Given the description of an element on the screen output the (x, y) to click on. 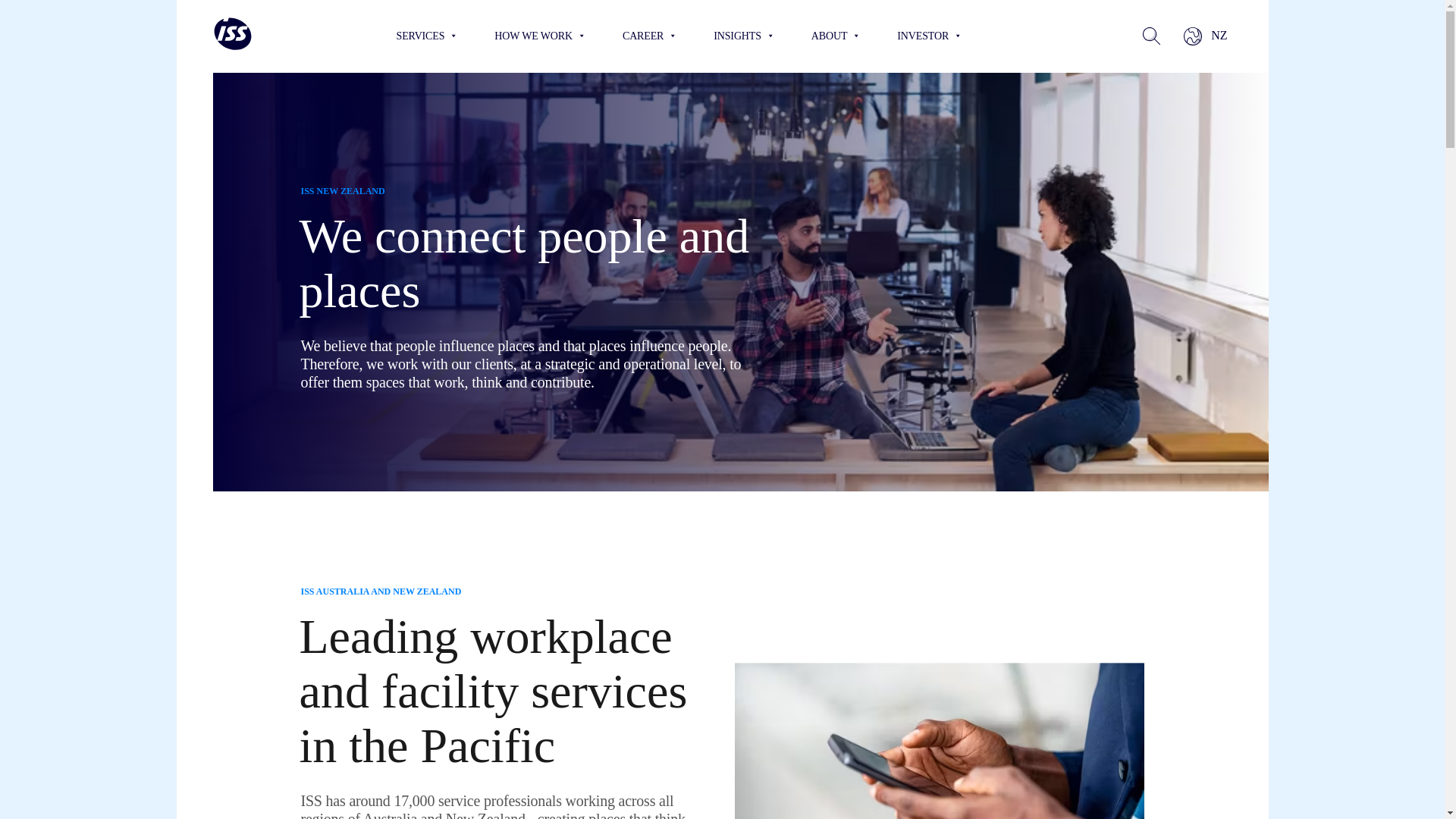
SERVICES (427, 35)
CAREER (650, 35)
INSIGHTS (743, 35)
How We Work (540, 35)
Services (427, 35)
HOW WE WORK (540, 35)
